Given the description of an element on the screen output the (x, y) to click on. 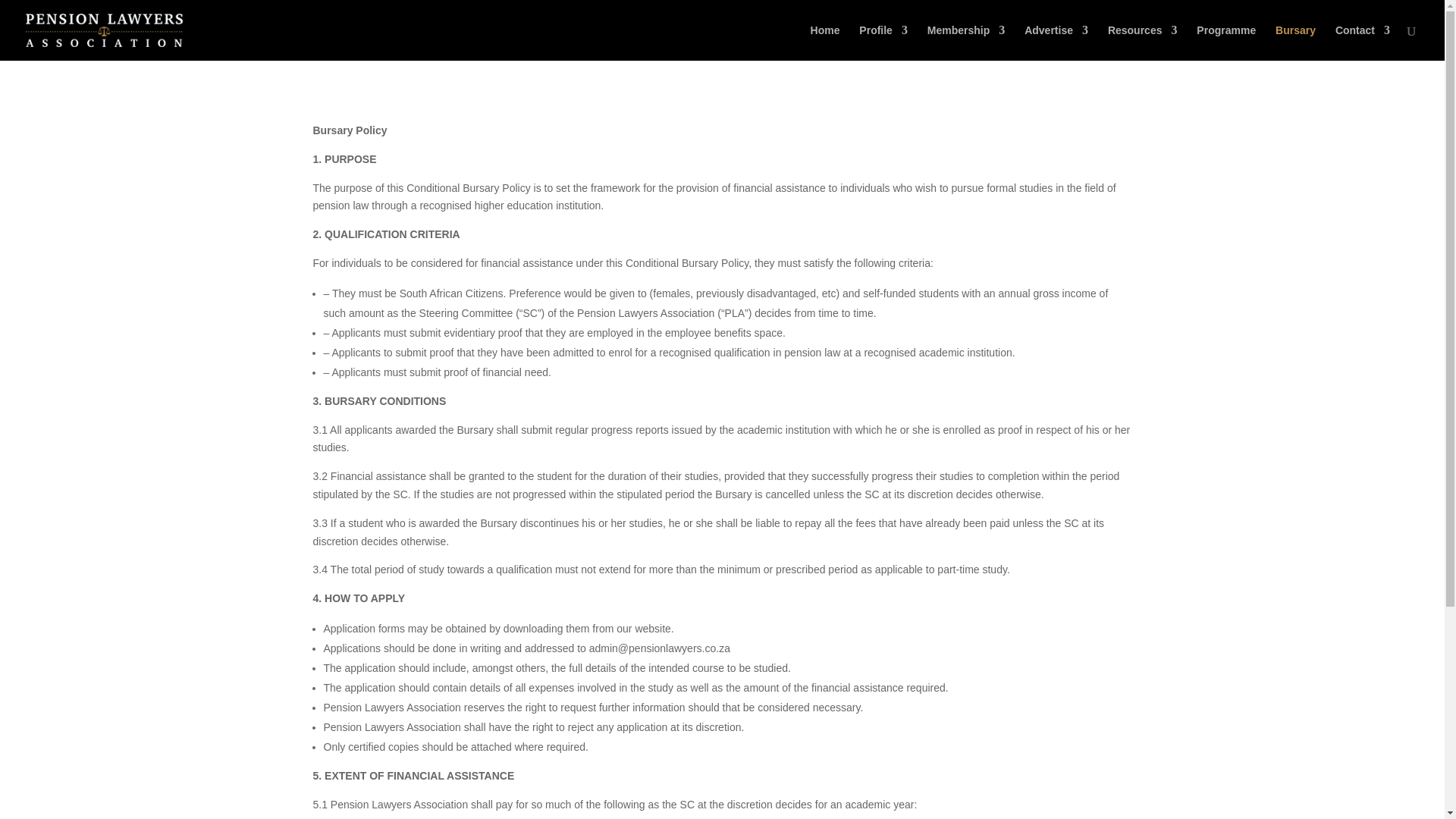
Bursary (1295, 42)
Programme (1225, 42)
Resources (1142, 42)
Membership (965, 42)
Profile (883, 42)
Contact (1362, 42)
Home (825, 42)
Advertise (1056, 42)
